Given the description of an element on the screen output the (x, y) to click on. 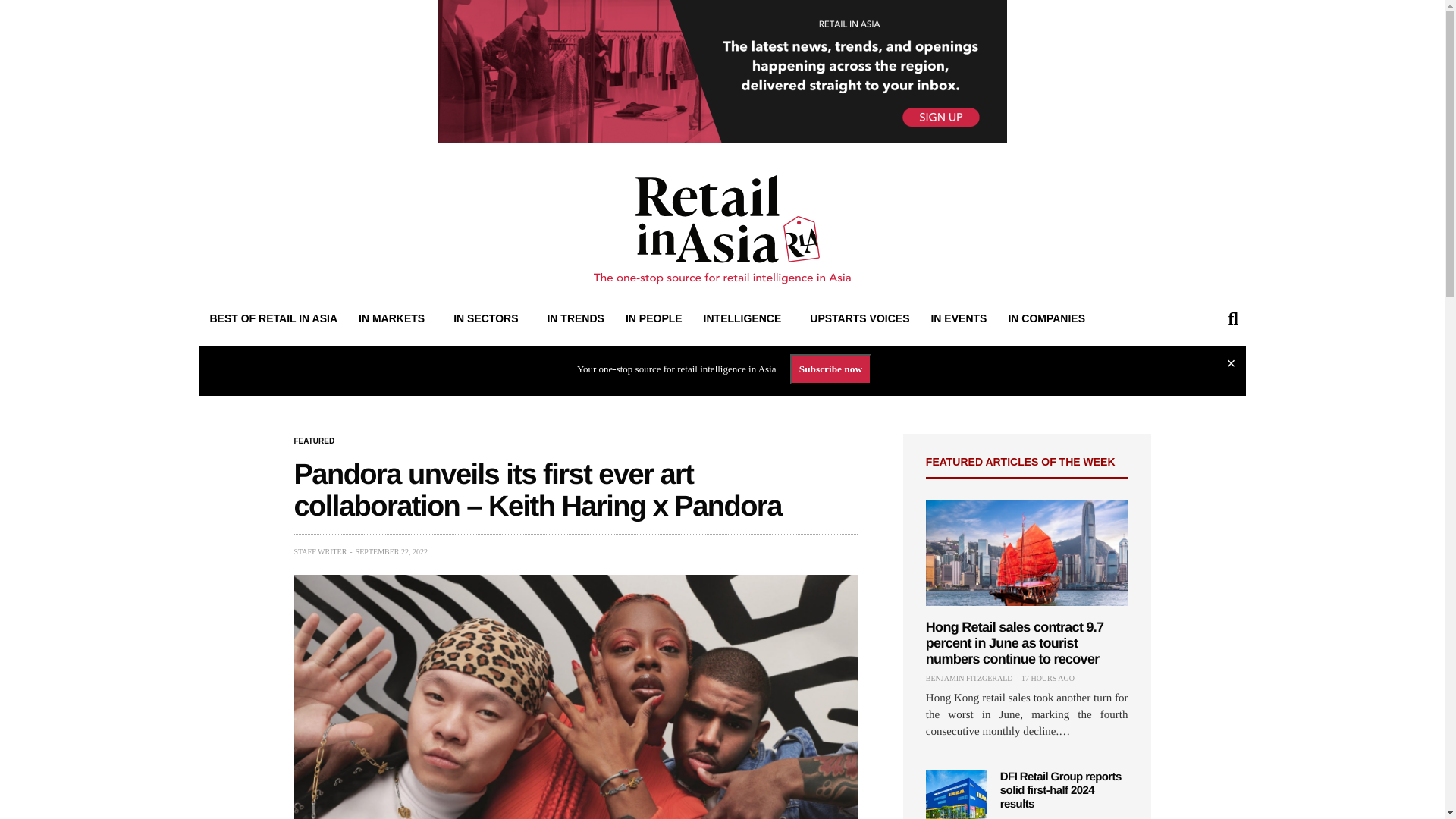
Subscribe now (830, 368)
IN SECTORS (488, 318)
IN COMPANIES (1045, 318)
Posts by Staff Writer (320, 551)
INTELLIGENCE (746, 318)
UPSTARTS VOICES (859, 318)
IN MARKETS (395, 318)
IN TRENDS (575, 318)
DFI Retail Group reports solid first-half 2024 results (956, 794)
IN EVENTS (958, 318)
IN PEOPLE (654, 318)
BEST OF RETAIL IN ASIA (273, 318)
Subscribe now (830, 368)
